Given the description of an element on the screen output the (x, y) to click on. 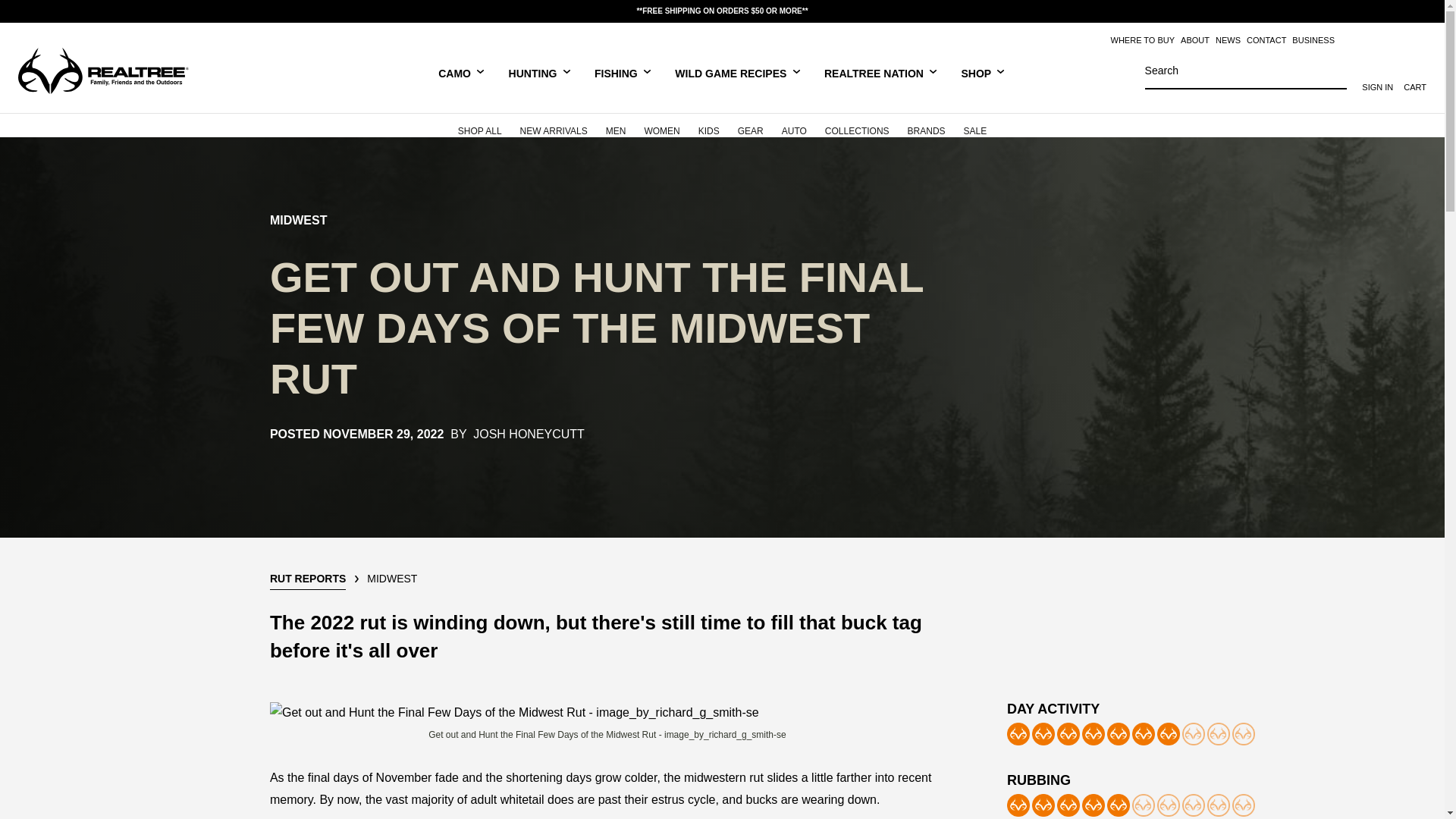
Close promo bar (1424, 10)
BUSINESS (1313, 40)
NEWS (1227, 40)
WHERE TO BUY (1142, 40)
ABOUT (1194, 40)
CONTACT (1265, 40)
HUNTING (540, 72)
Close (1424, 10)
CAMO (461, 72)
